Given the description of an element on the screen output the (x, y) to click on. 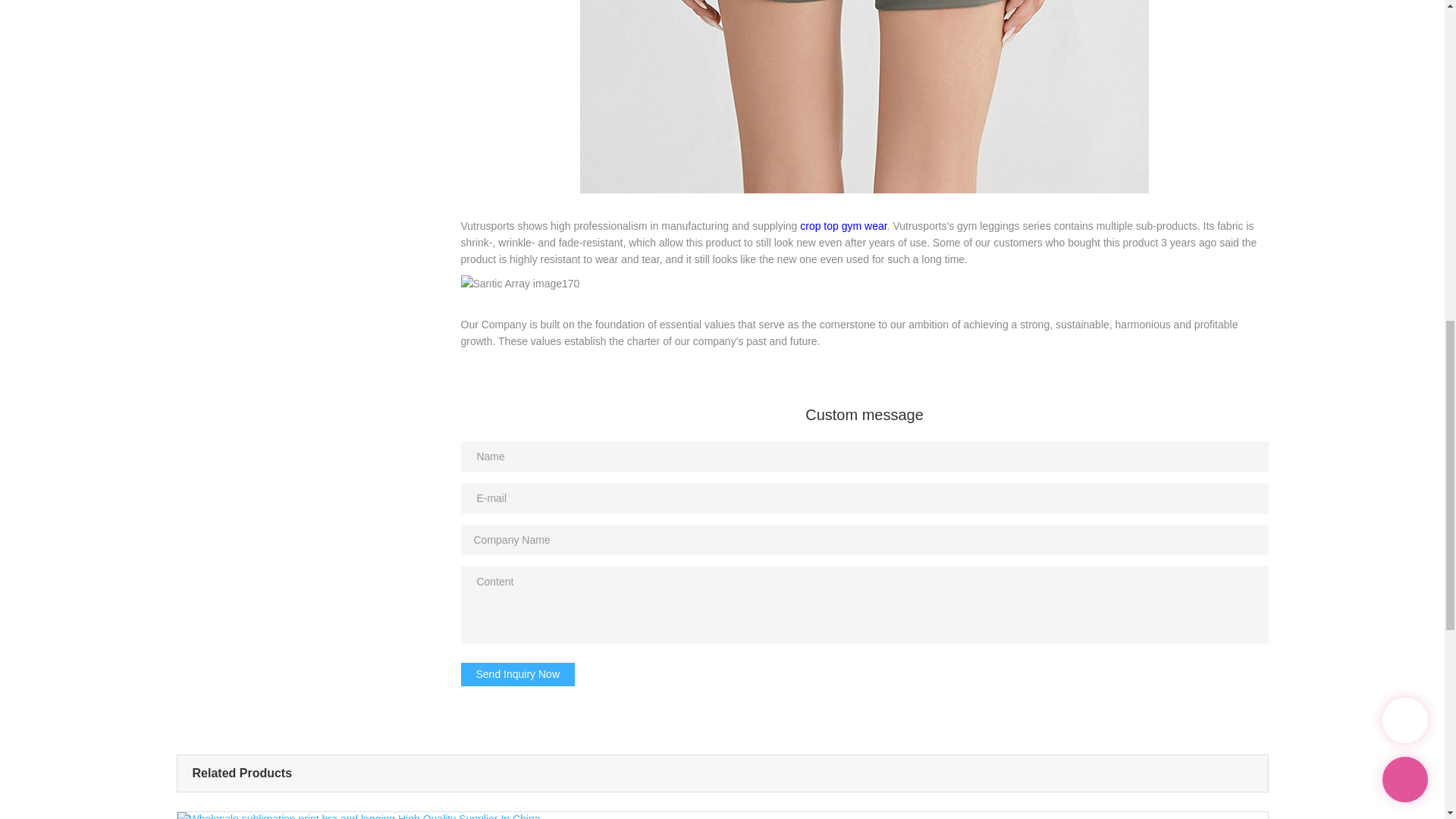
crop top gym wear (842, 225)
Send Inquiry Now (518, 674)
